Given the description of an element on the screen output the (x, y) to click on. 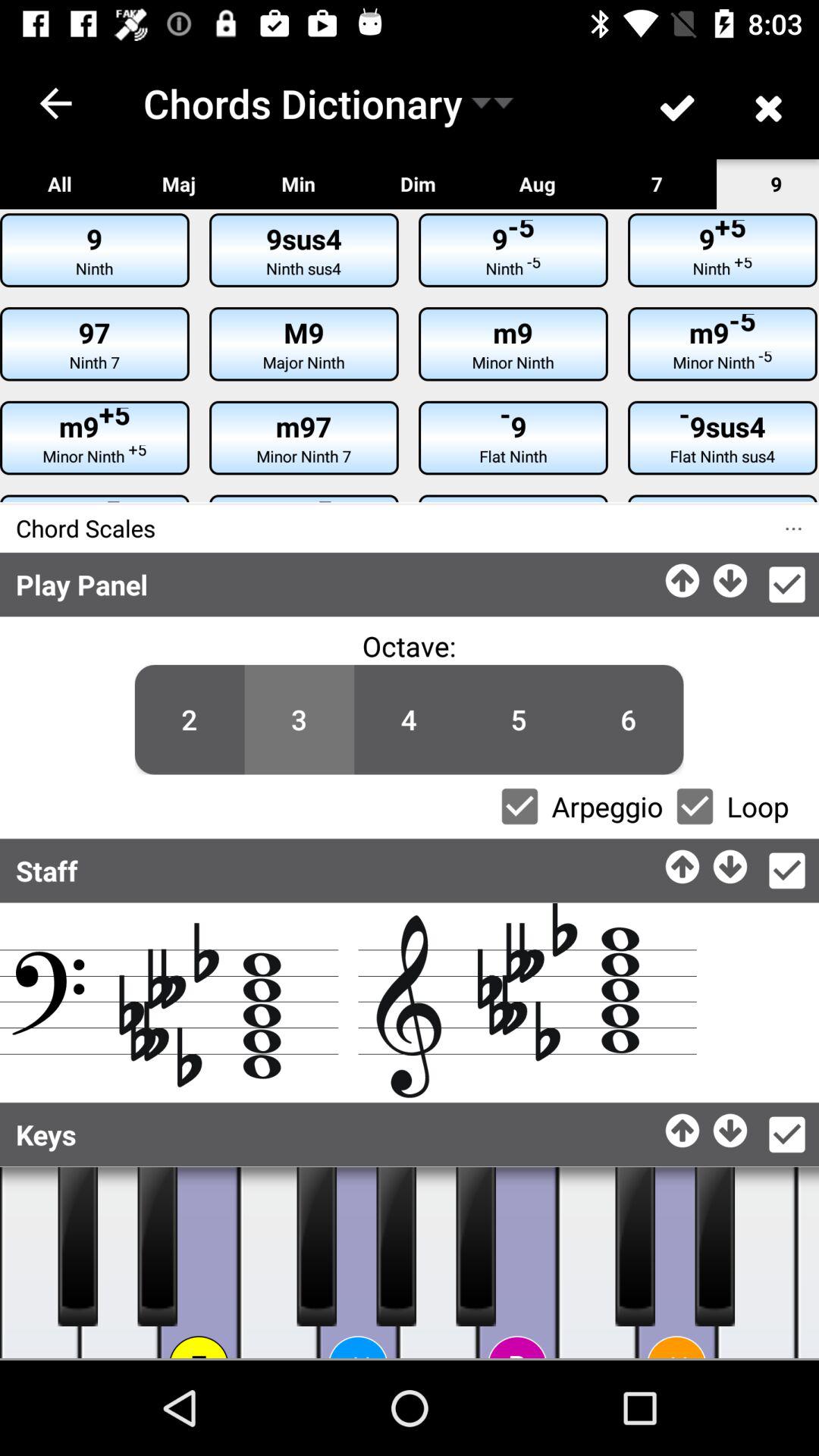
save this selection (787, 1134)
